Given the description of an element on the screen output the (x, y) to click on. 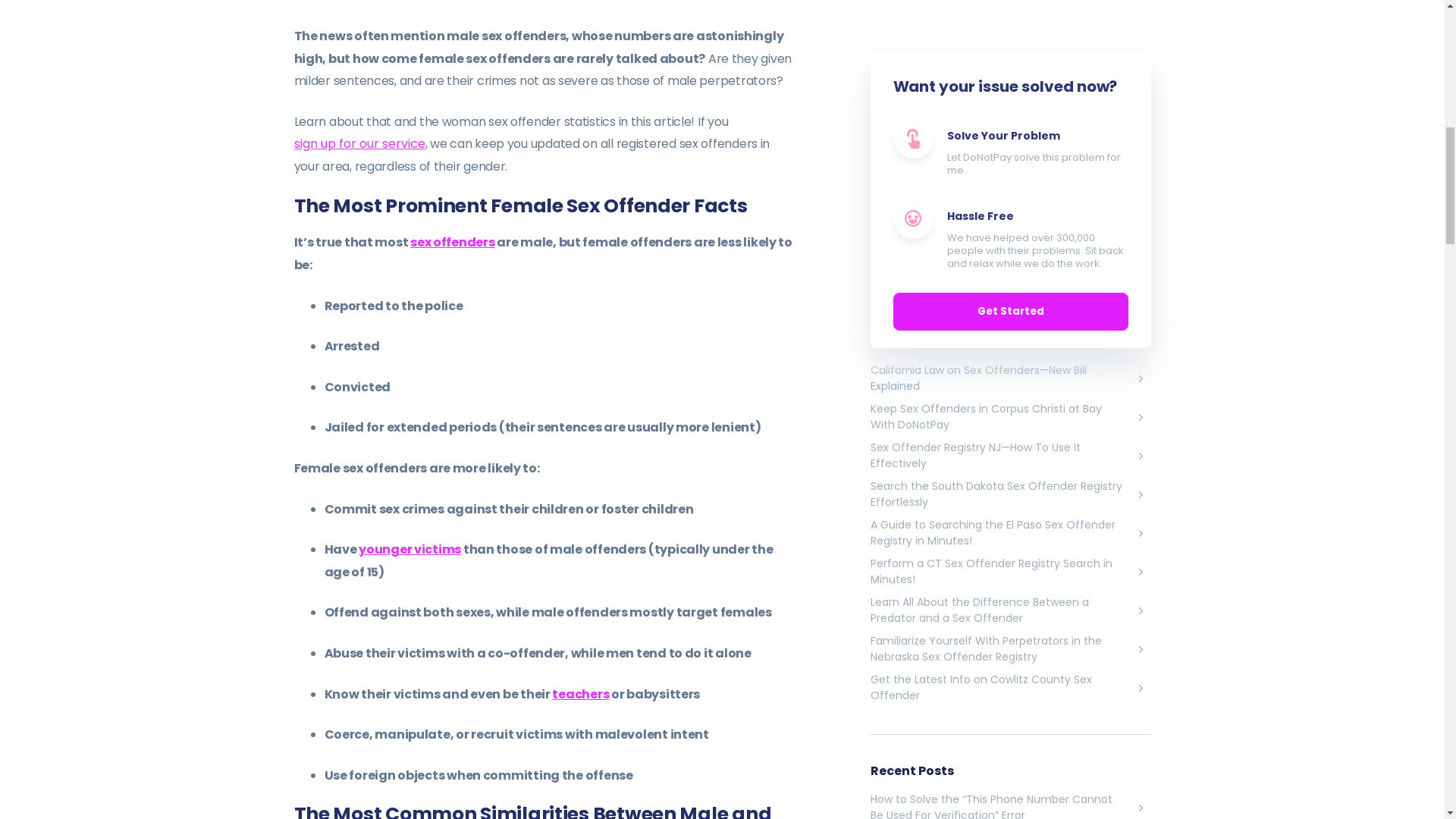
younger victims (409, 548)
teachers (579, 693)
sex offenders (452, 241)
sign up for our service (359, 143)
